Given the description of an element on the screen output the (x, y) to click on. 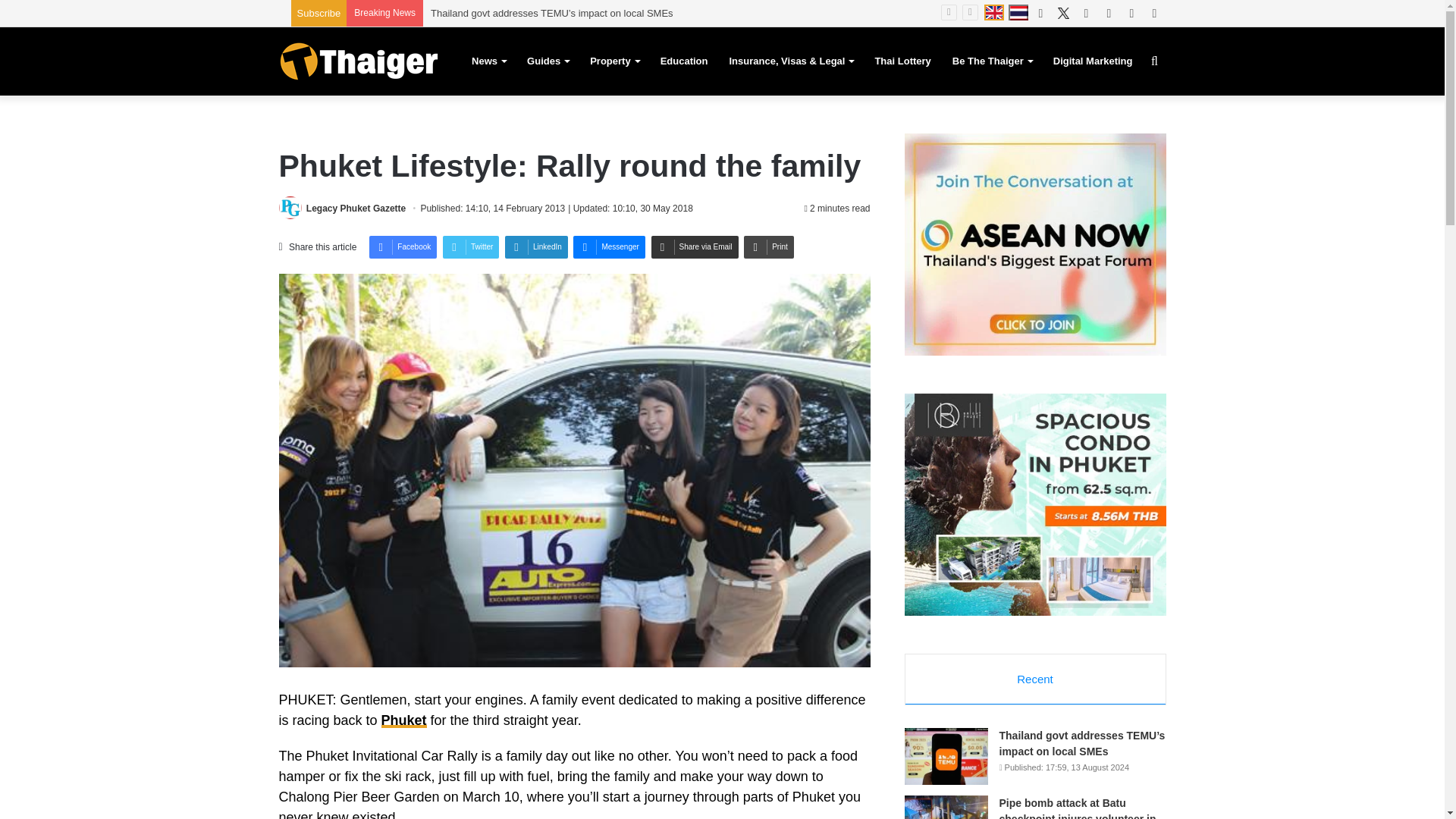
Print (768, 246)
Messenger (609, 246)
Phuket (403, 720)
Legacy Phuket Gazette (355, 208)
Subscribe (318, 12)
LinkedIn (536, 246)
Thaiger (358, 60)
Share via Email (694, 246)
Twitter (470, 246)
Facebook (402, 246)
